Given the description of an element on the screen output the (x, y) to click on. 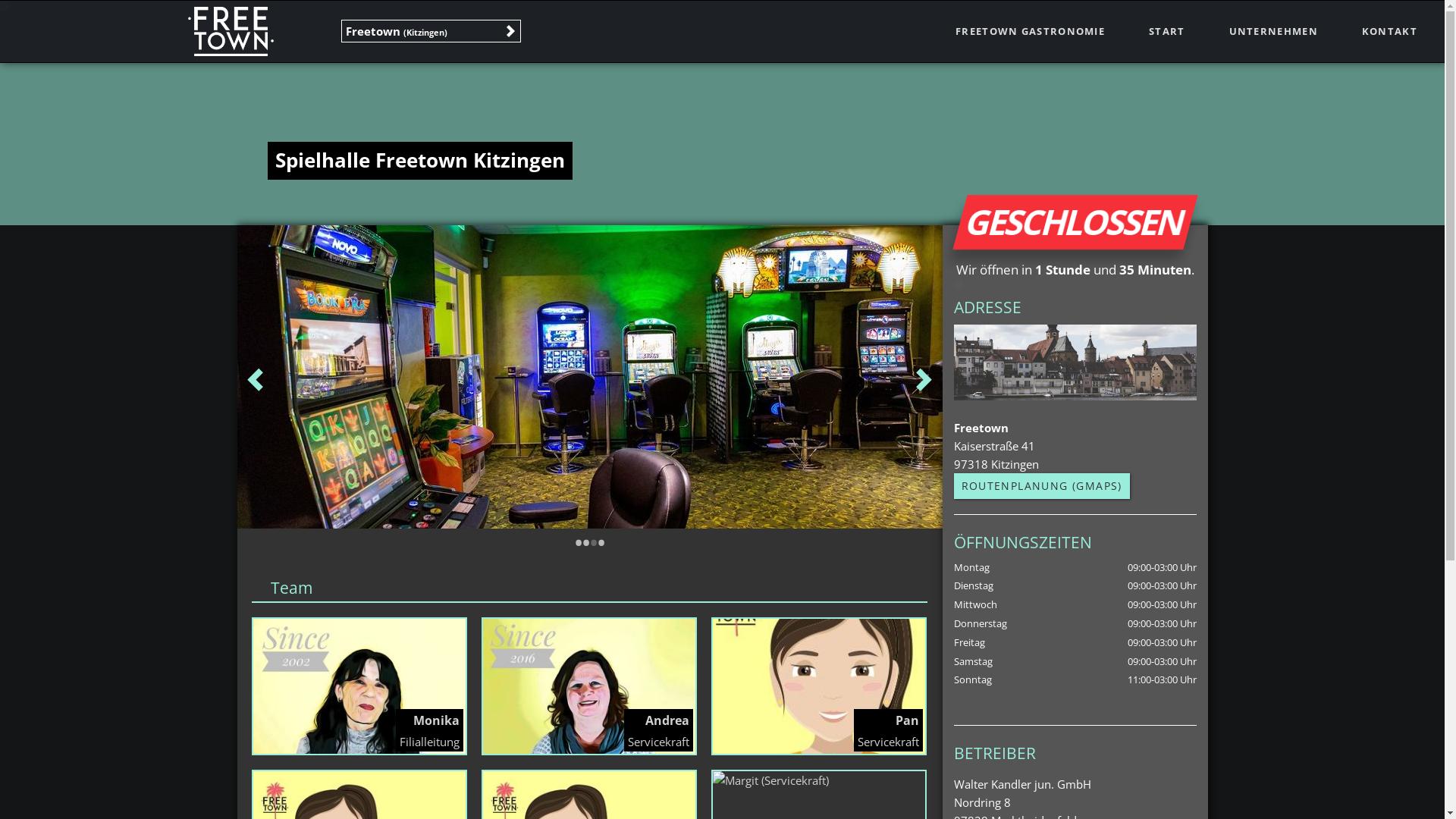
Freetown Kitzingen Element type: hover (1074, 362)
Andrea (Servicekraft) Element type: hover (589, 685)
START Element type: text (1166, 31)
KONTAKT Element type: text (1389, 31)
ROUTENPLANUNG (GMAPS) Element type: text (1041, 485)
FREETOWN GASTRONOMIE Element type: text (1029, 31)
UNTERNEHMEN Element type: text (1273, 31)
Pan (Servicekraft) Element type: hover (818, 685)
Freetown Kitzingen Element type: hover (588, 376)
Monika (Filialleitung) Element type: hover (359, 685)
